Given the description of an element on the screen output the (x, y) to click on. 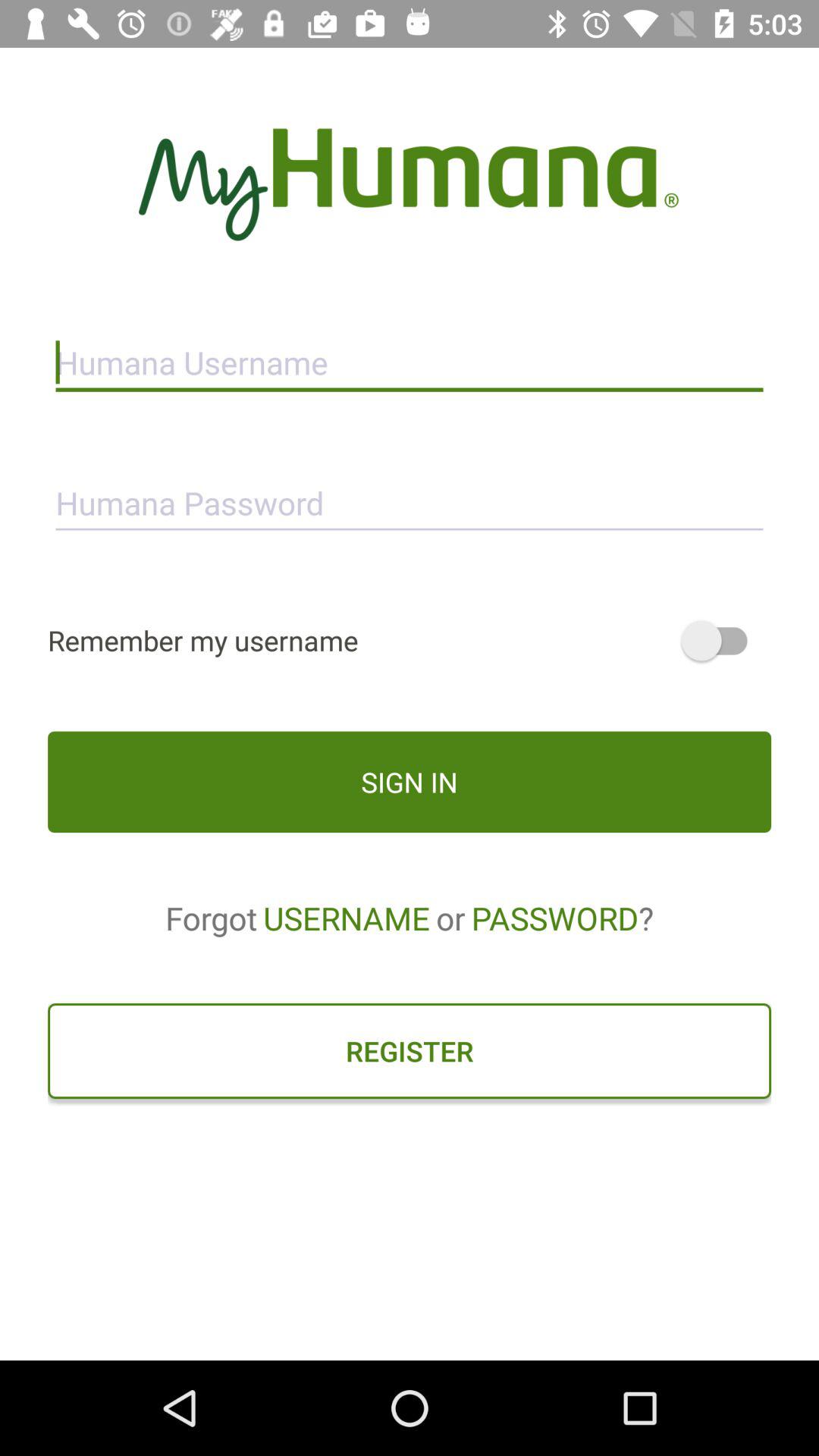
turn on register (409, 1050)
